Given the description of an element on the screen output the (x, y) to click on. 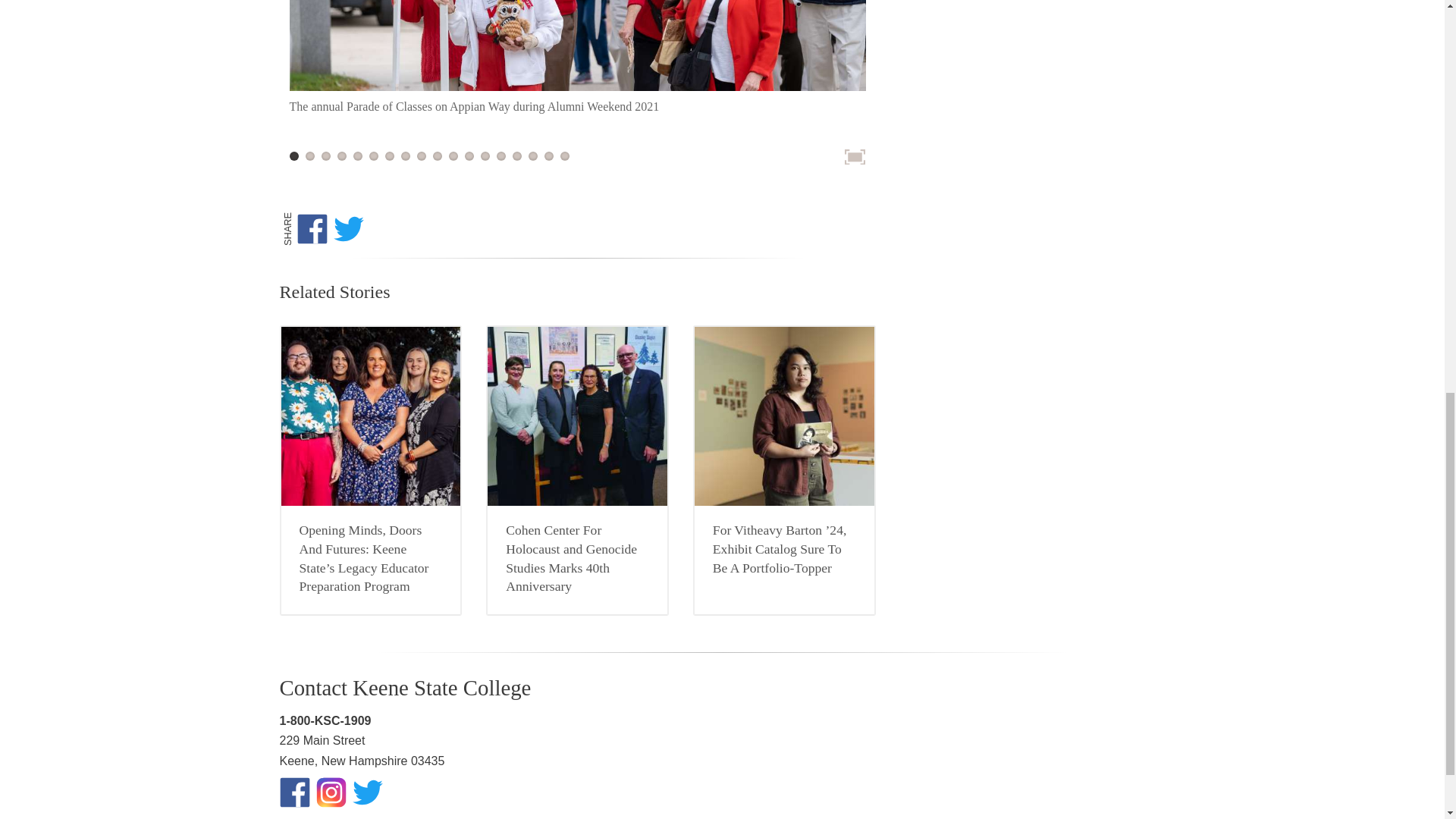
Navigate to slide 15 of 18 (516, 155)
4 (357, 155)
Navigate to slide 9 of 18 (421, 155)
12 (484, 155)
Navigate to slide 2 of 18 (309, 155)
Navigate to slide 16 of 18 (532, 155)
Navigate to slide 6 of 18 (372, 155)
14 (516, 155)
13 (500, 155)
16 (548, 155)
